Given the description of an element on the screen output the (x, y) to click on. 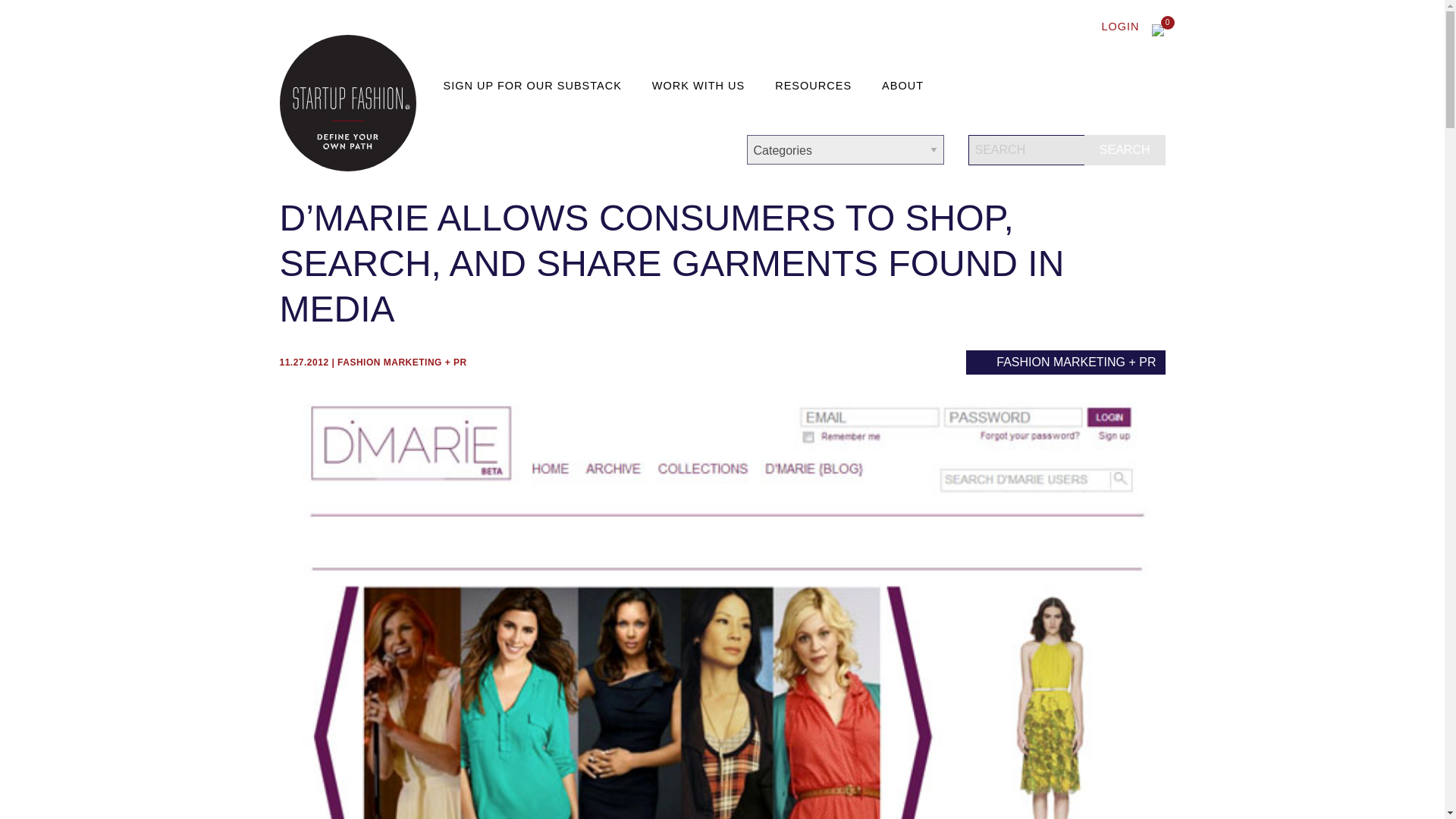
Search (1125, 150)
View your shopping cart (1157, 29)
ABOUT (906, 85)
LOGIN (1113, 26)
SIGN UP FOR OUR SUBSTACK (534, 85)
RESOURCES (815, 85)
0 (1157, 29)
Search for: (1066, 150)
Search (1125, 150)
